Given the description of an element on the screen output the (x, y) to click on. 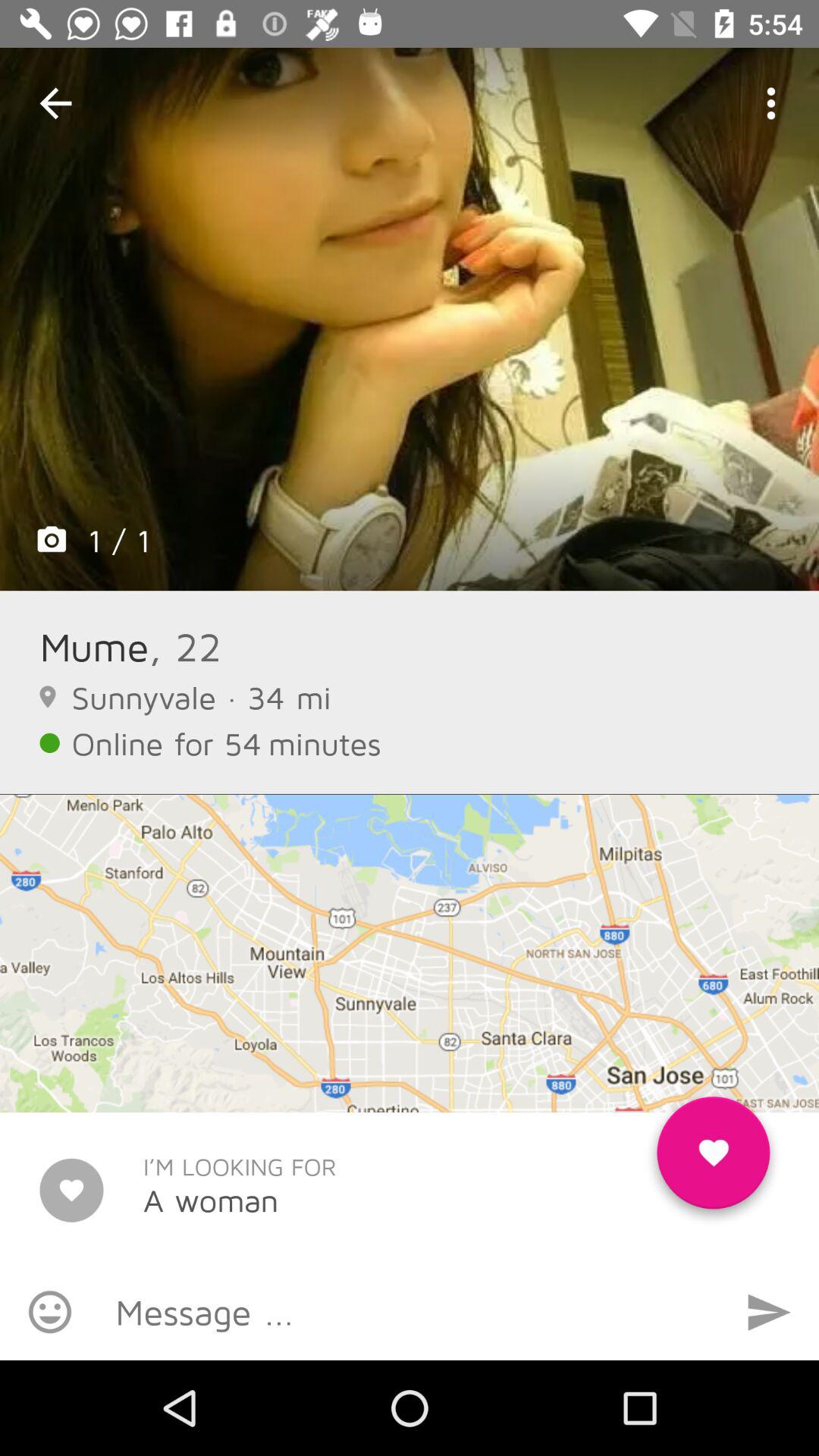
press icon next to i m looking (713, 1158)
